Given the description of an element on the screen output the (x, y) to click on. 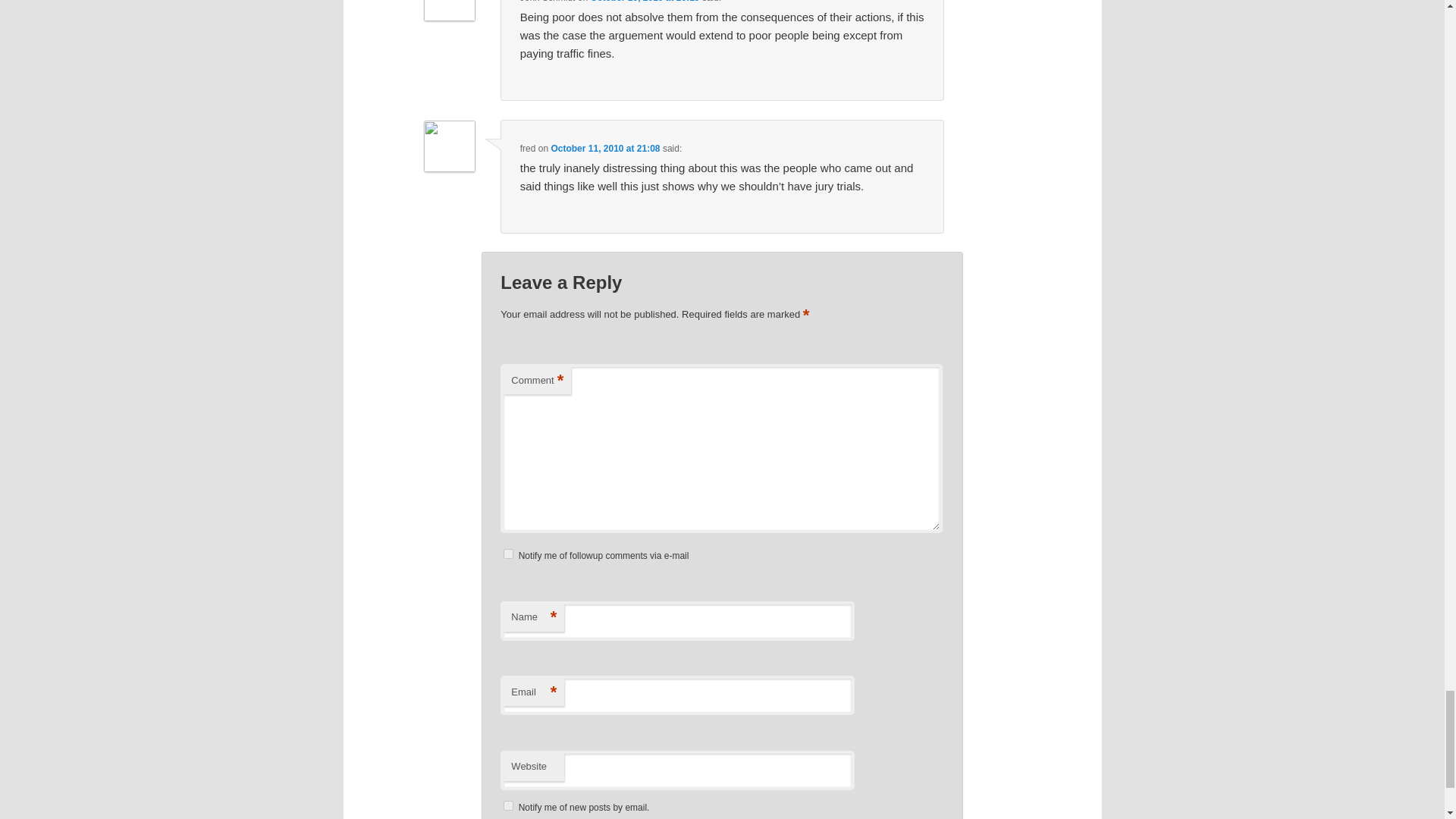
October 10, 2010 at 20:19 (643, 1)
October 11, 2010 at 21:08 (604, 148)
subscribe (508, 805)
subscribe (508, 553)
